Given the description of an element on the screen output the (x, y) to click on. 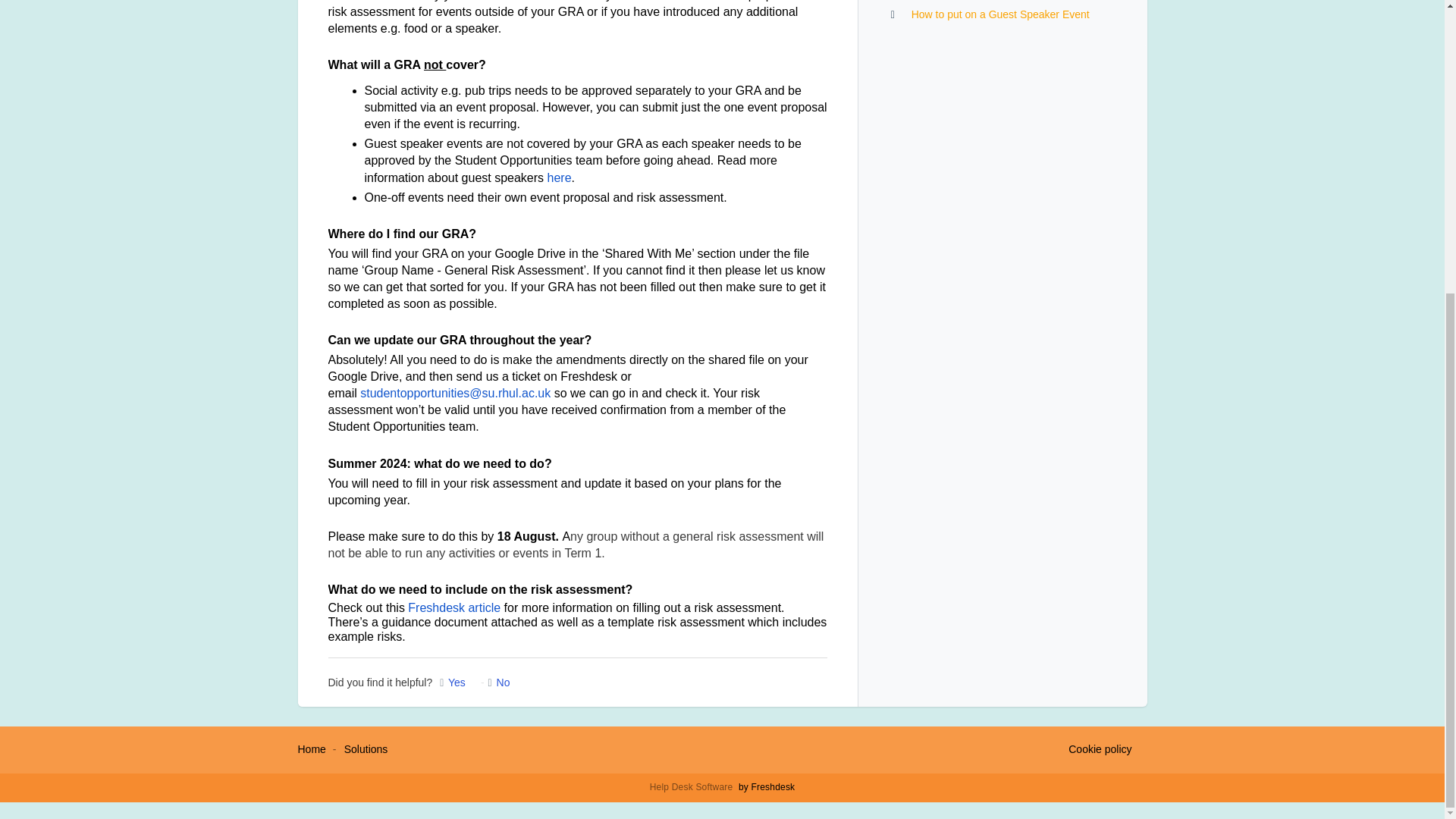
here (559, 177)
Why we love Cookies (1099, 750)
Solutions (365, 748)
Help Desk Software (693, 787)
Freshdesk article (453, 607)
Cookie policy (1099, 750)
How to put on a Guest Speaker Event (1000, 14)
Home (310, 748)
